Given the description of an element on the screen output the (x, y) to click on. 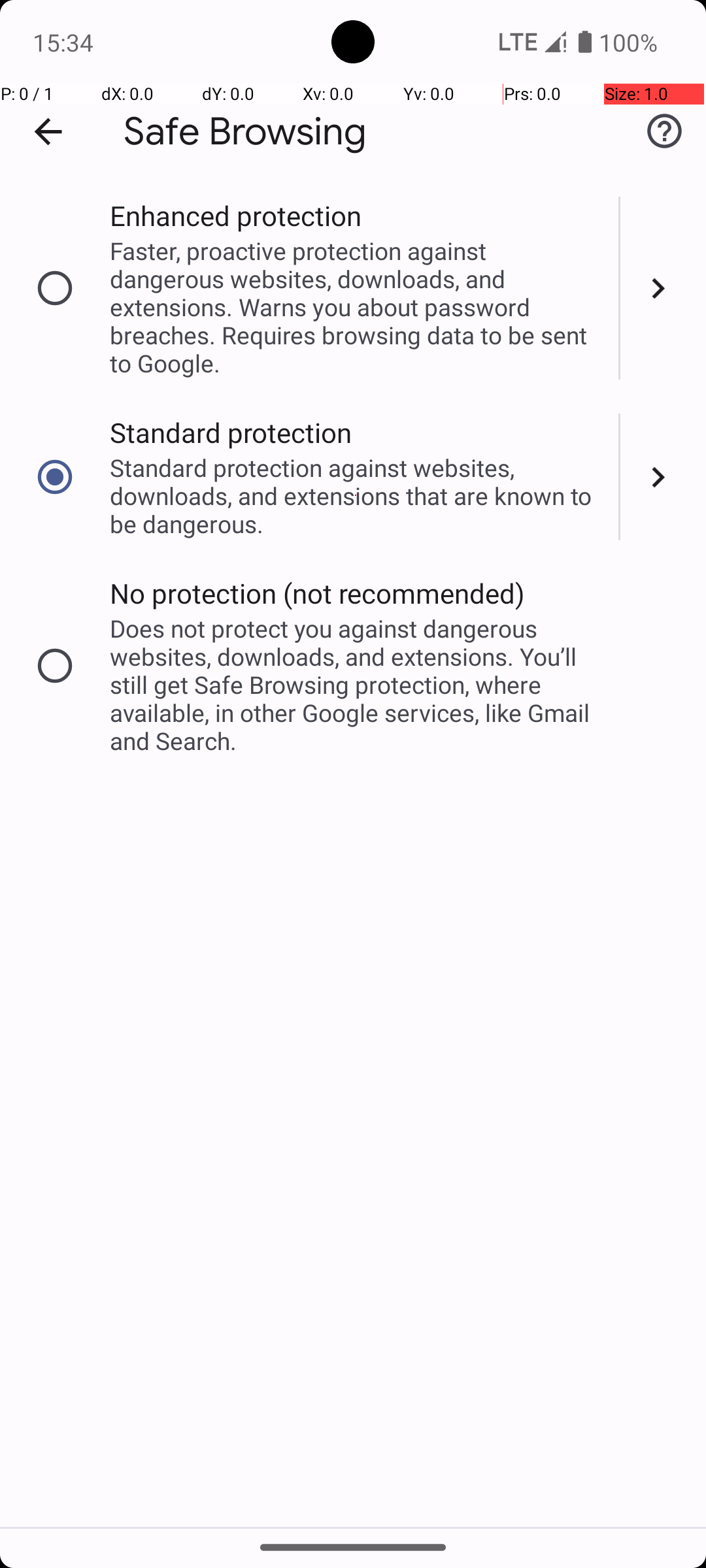
Safe Browsing Element type: android.widget.TextView (244, 131)
Enhanced protection Element type: android.widget.TextView (235, 214)
Faster, proactive protection against dangerous websites, downloads, and extensions. Warns you about password breaches. Requires browsing data to be sent to Google. Element type: android.widget.TextView (355, 306)
Standard protection Element type: android.widget.TextView (230, 431)
Standard protection against websites, downloads, and extensions that are known to be dangerous. Element type: android.widget.TextView (355, 495)
No protection (not recommended) Element type: android.widget.TextView (317, 592)
Does not protect you against dangerous websites, downloads, and extensions. You’ll still get Safe Browsing protection, where available, in other Google services, like Gmail and Search. Element type: android.widget.TextView (355, 684)
